Given the description of an element on the screen output the (x, y) to click on. 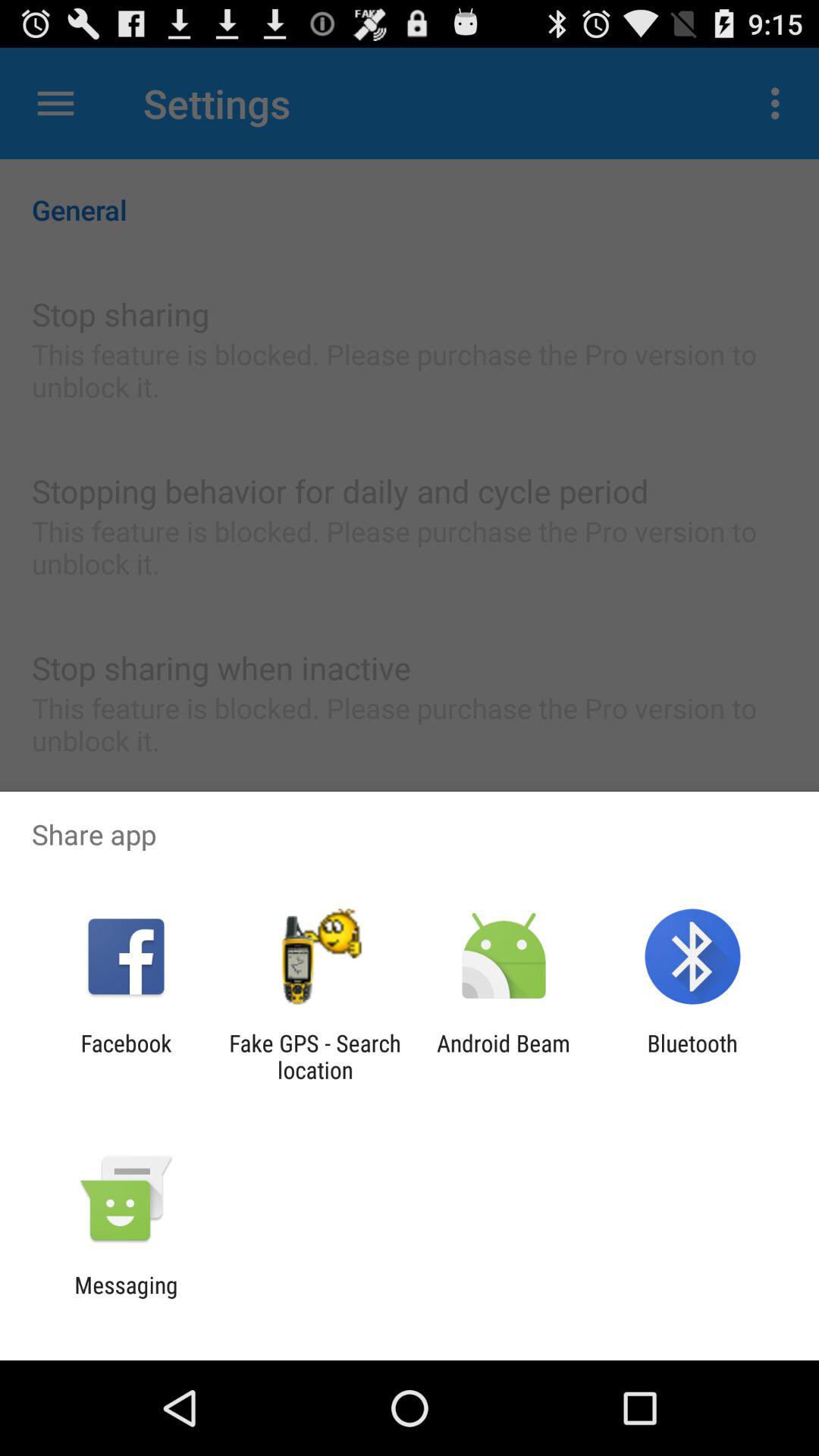
scroll until the fake gps search (314, 1056)
